Given the description of an element on the screen output the (x, y) to click on. 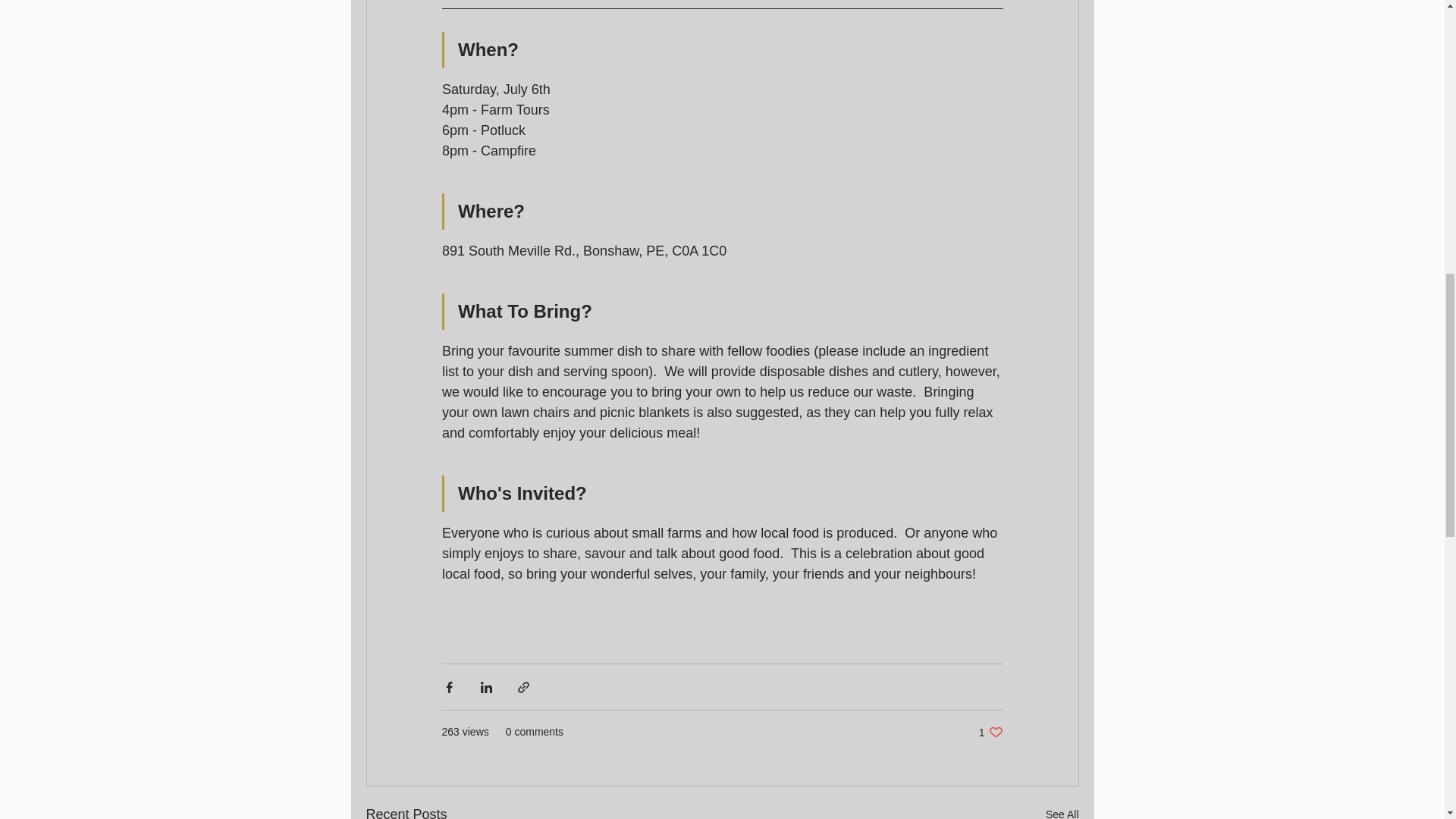
See All (990, 731)
